Given the description of an element on the screen output the (x, y) to click on. 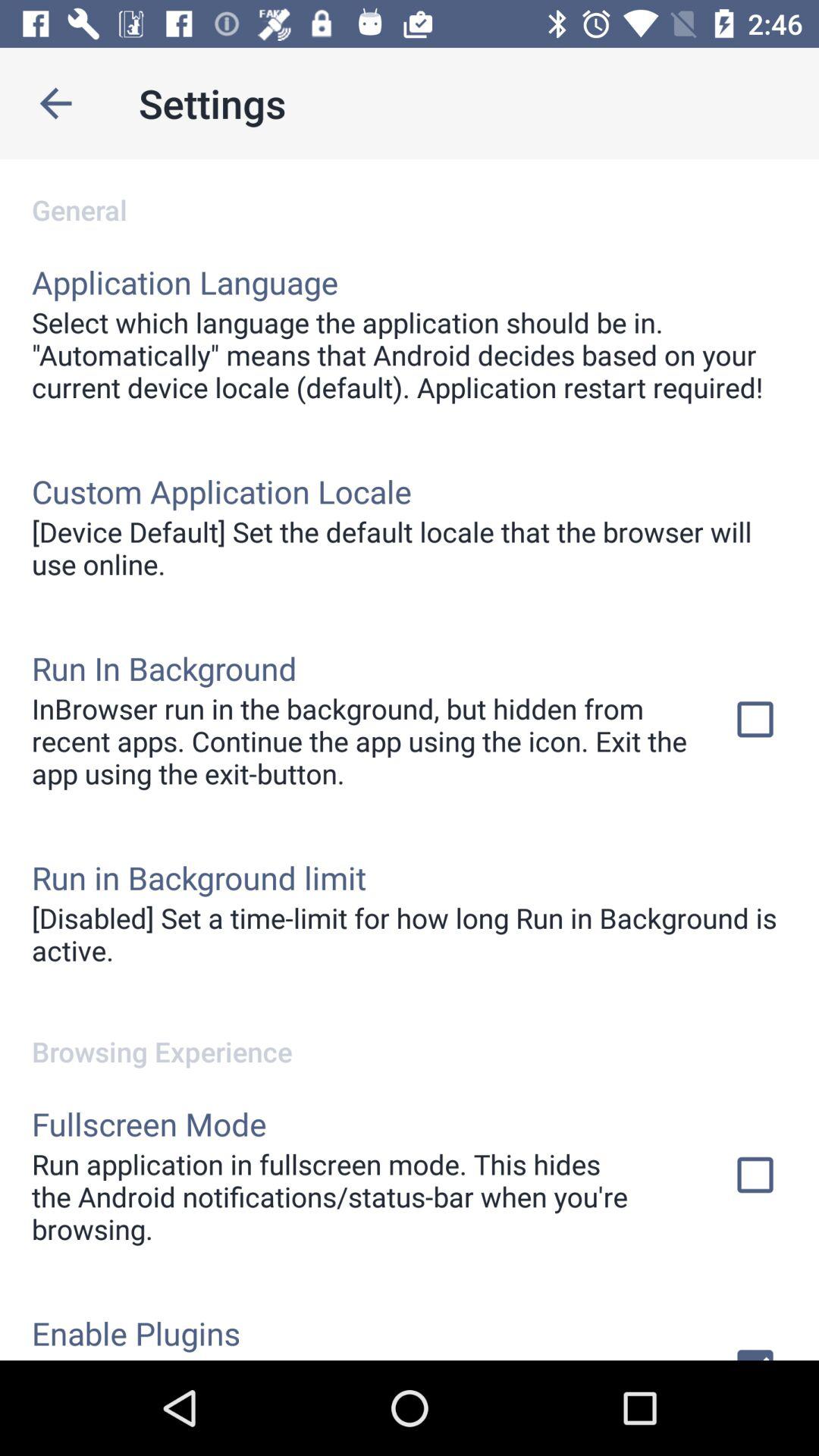
select the select which language icon (409, 354)
